Given the description of an element on the screen output the (x, y) to click on. 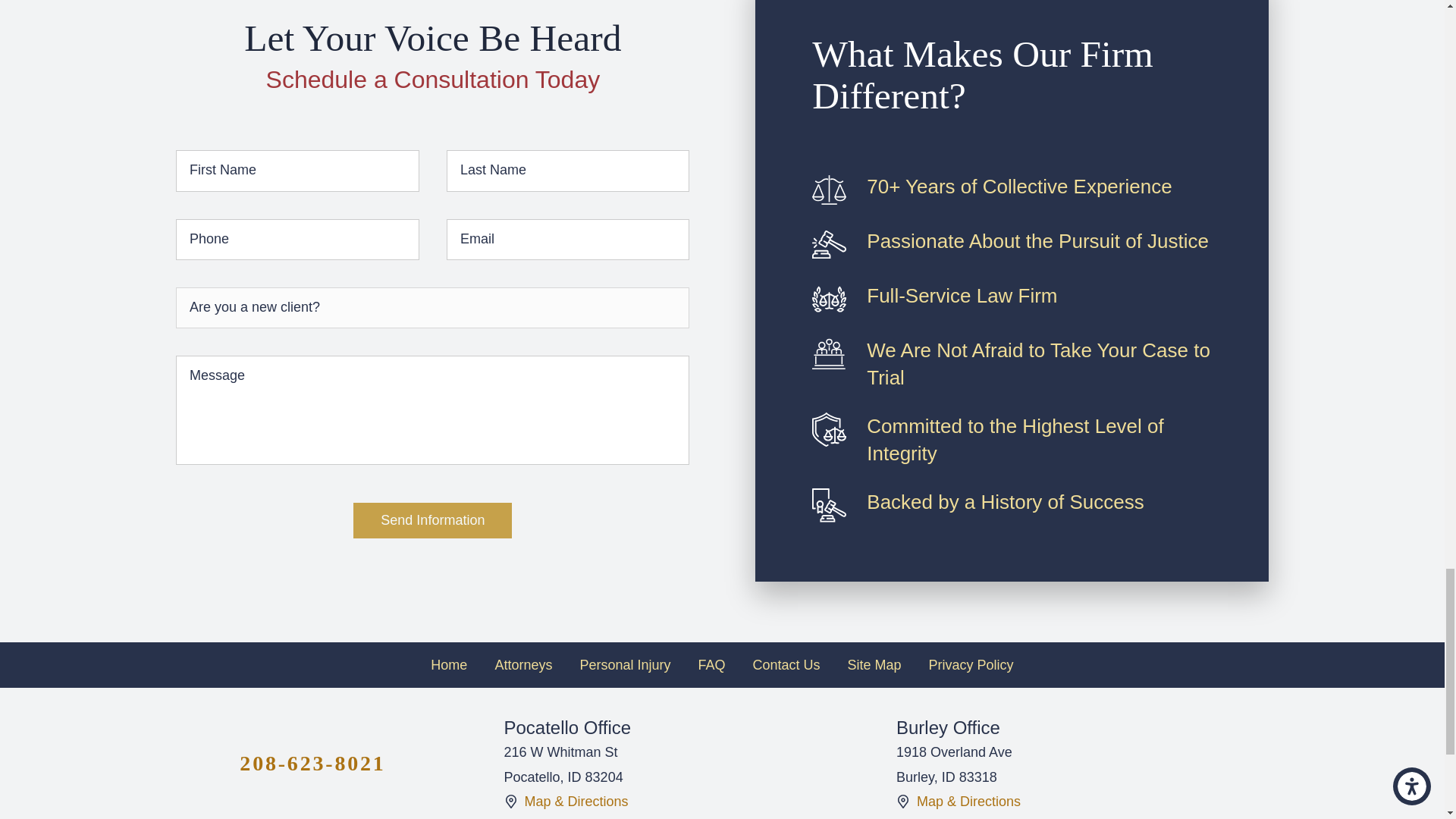
Site Icon (903, 801)
Site Icon (509, 801)
